Given the description of an element on the screen output the (x, y) to click on. 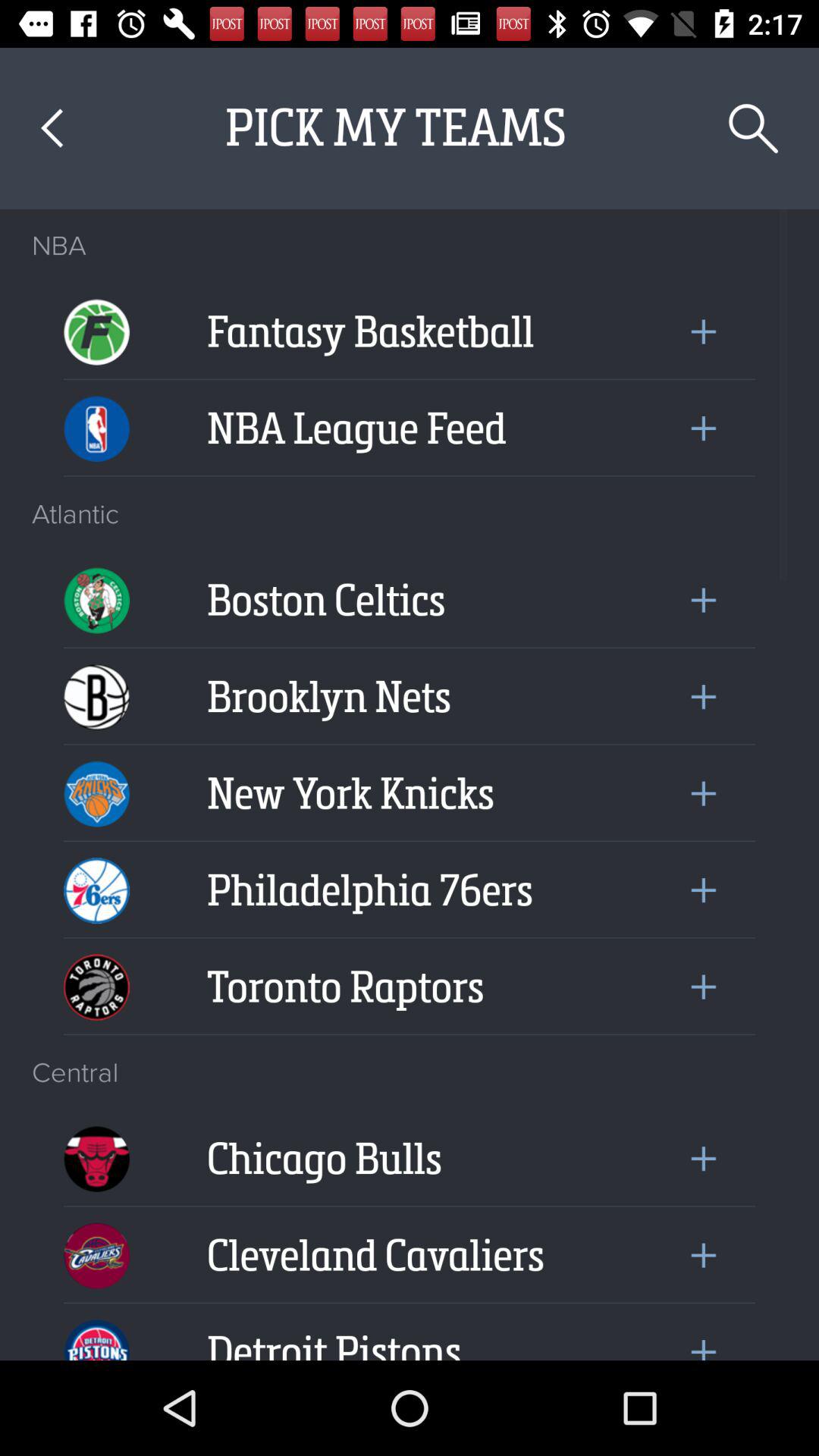
select the 76ers (96, 879)
select the icon below the nba (96, 320)
